Given the description of an element on the screen output the (x, y) to click on. 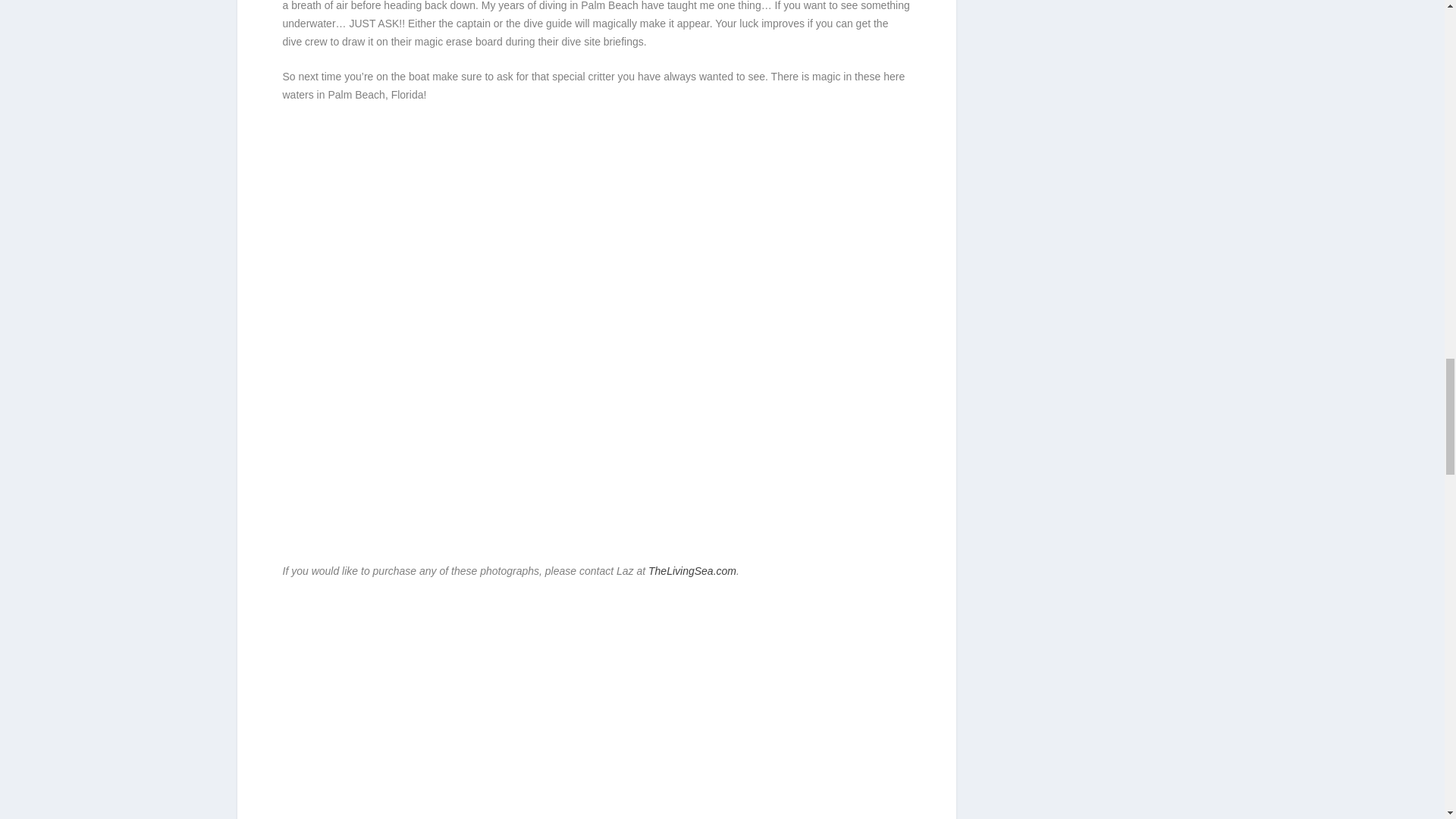
140424-105806-0004-dualiso (804, 667)
140424-105834-0005 (804, 779)
140424-105708-0001 (490, 708)
Underwater photography (691, 571)
